Given the description of an element on the screen output the (x, y) to click on. 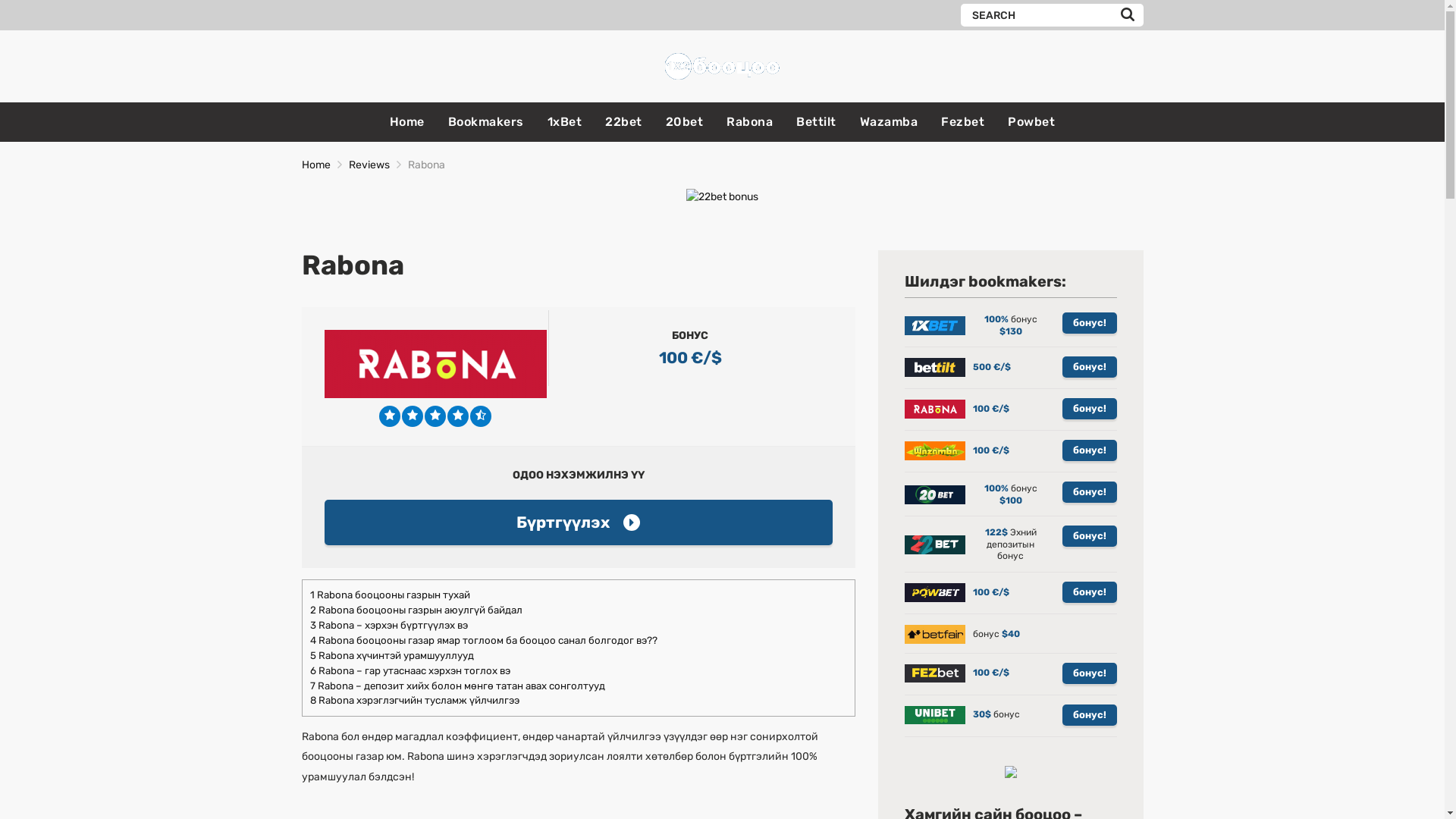
Home Element type: text (315, 164)
22bet Element type: text (623, 121)
Powbet Element type: text (1030, 121)
Bettilt Element type: text (816, 121)
20bet Element type: text (684, 121)
Bookmakers Element type: text (486, 121)
Reviews Element type: text (368, 164)
Fezbet Element type: text (962, 121)
Wazamba Element type: text (888, 121)
Rabona Element type: text (749, 121)
1xBet Element type: text (564, 121)
Home Element type: text (406, 121)
